Given the description of an element on the screen output the (x, y) to click on. 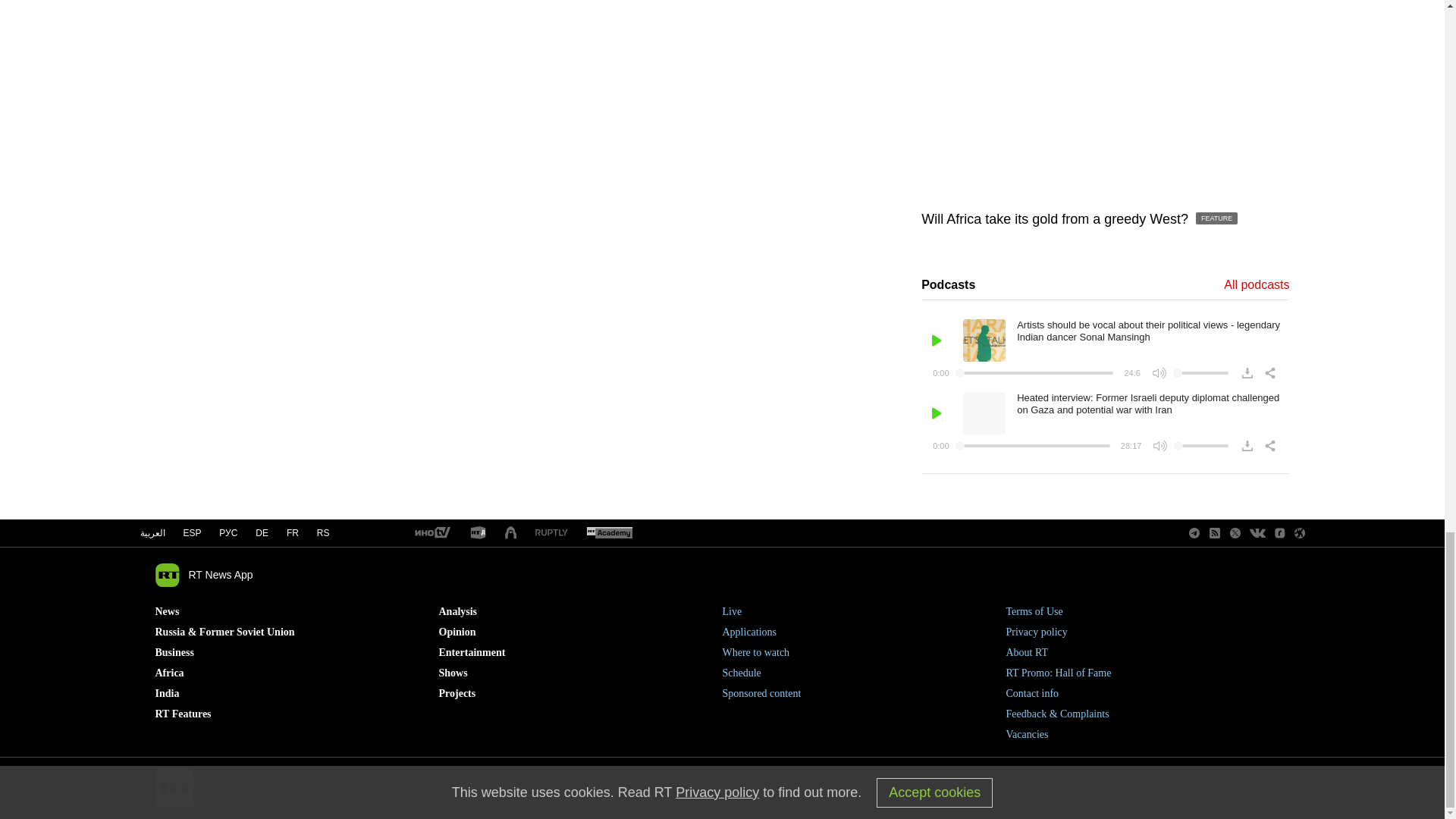
RT  (608, 533)
RT  (551, 533)
RT  (431, 533)
RT  (478, 533)
